Given the description of an element on the screen output the (x, y) to click on. 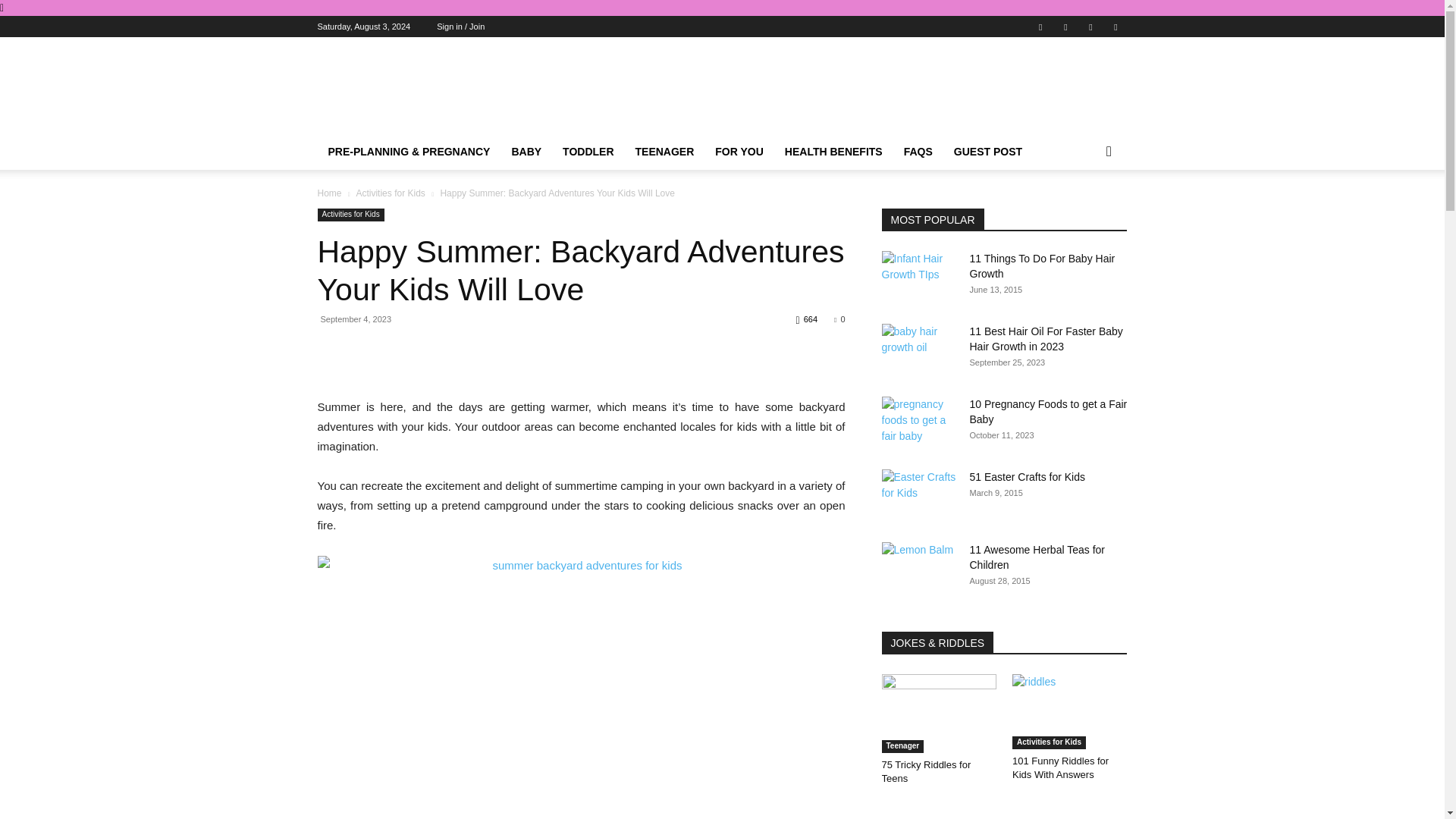
HEALTH BENEFITS (833, 151)
Youtube (1114, 25)
View all posts in Activities for Kids (390, 193)
TODDLER (587, 151)
Activities for Kids (350, 214)
Home (328, 193)
GUEST POST (987, 151)
Twitter (1090, 25)
Activities for Kids (390, 193)
Facebook (1040, 25)
FOR YOU (739, 151)
FAQS (918, 151)
BABY (525, 151)
Pinterest (1065, 25)
